Given the description of an element on the screen output the (x, y) to click on. 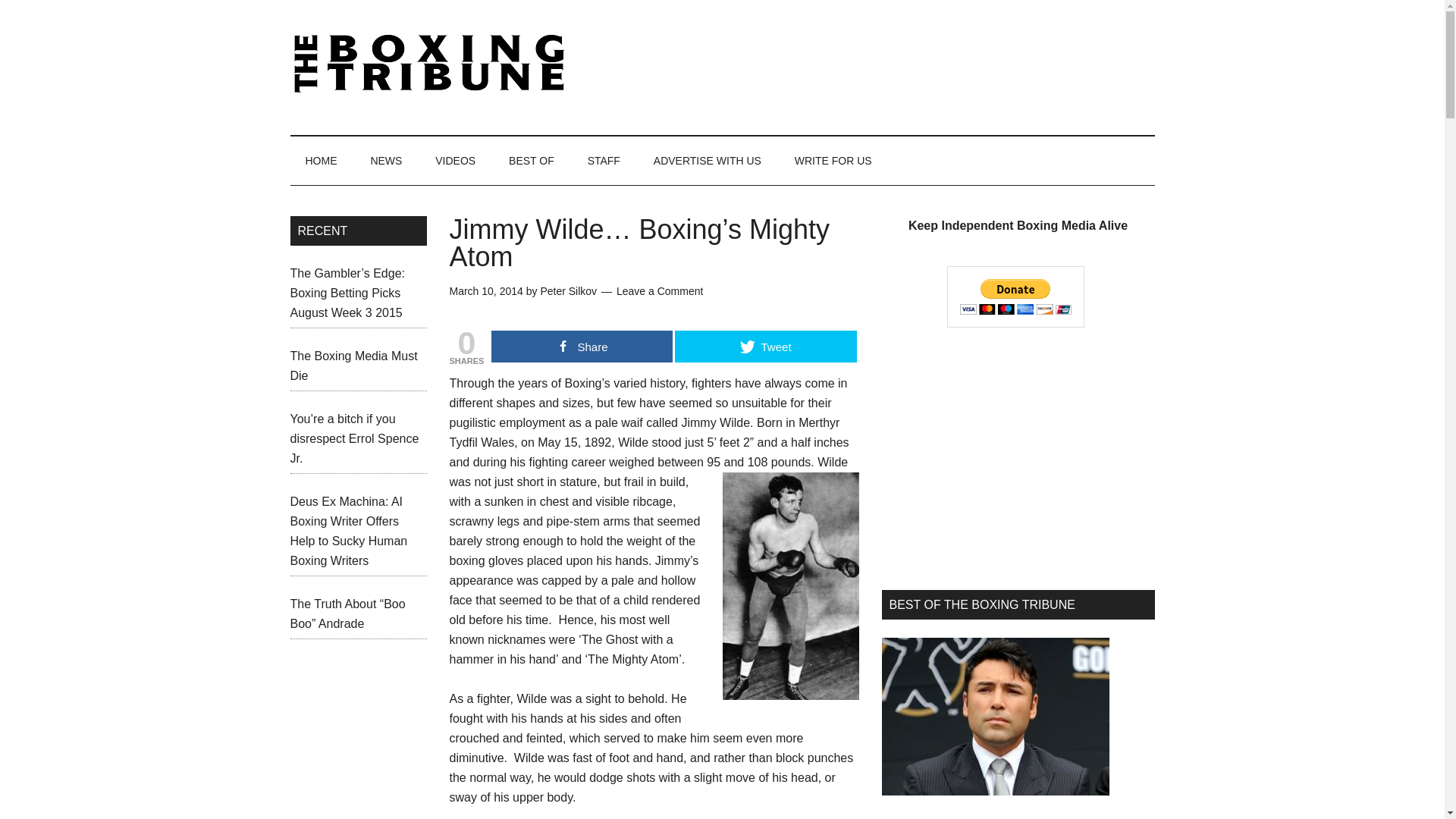
The Boxing Tribune (433, 64)
Peter Silkov (568, 291)
Leave a Comment (659, 291)
ADVERTISE WITH US (707, 160)
Advertisement (1017, 458)
WRITE FOR US (832, 160)
Tweet (765, 346)
Share (582, 346)
BEST OF (531, 160)
